Given the description of an element on the screen output the (x, y) to click on. 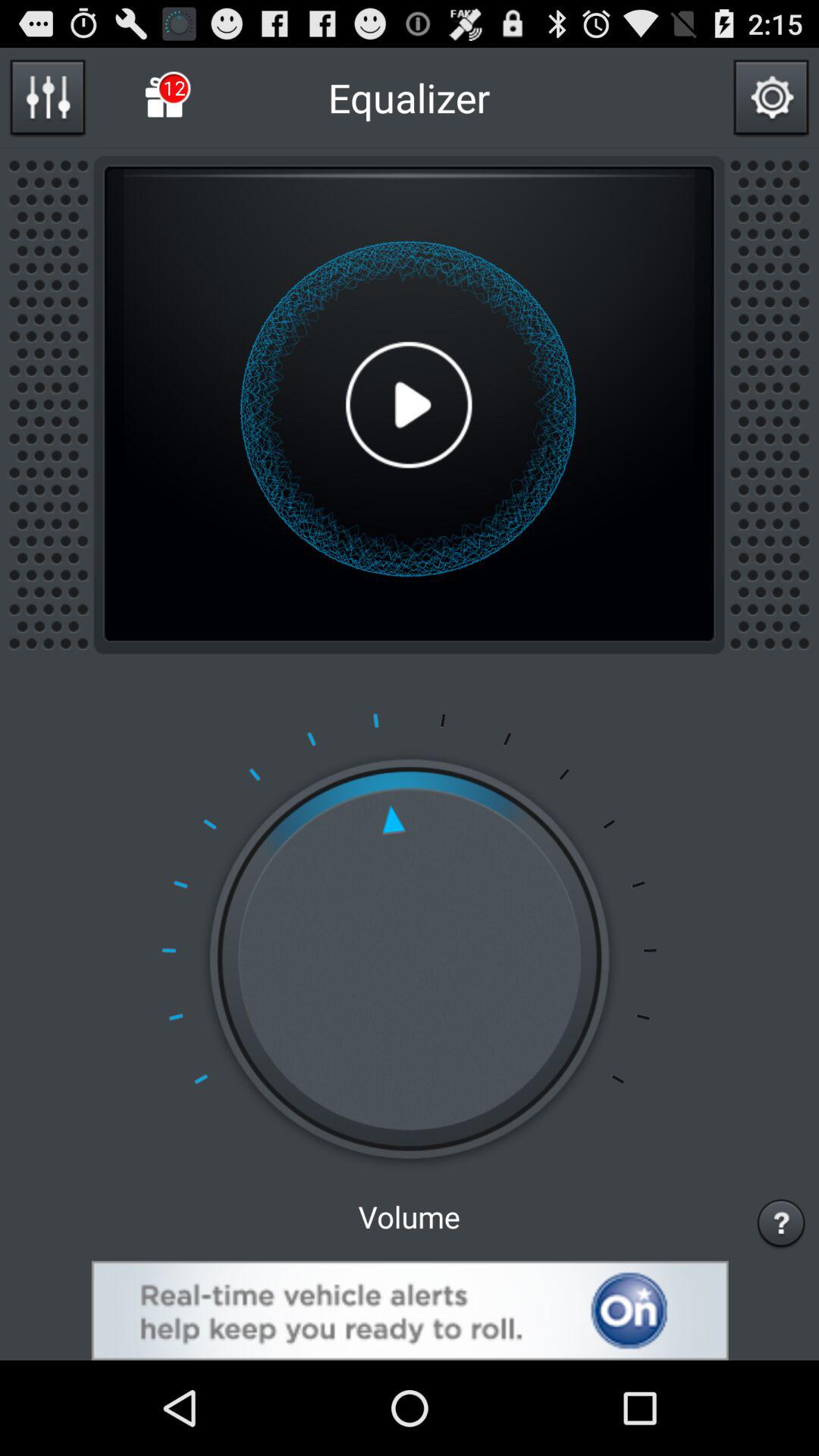
advertisement (409, 1310)
